Given the description of an element on the screen output the (x, y) to click on. 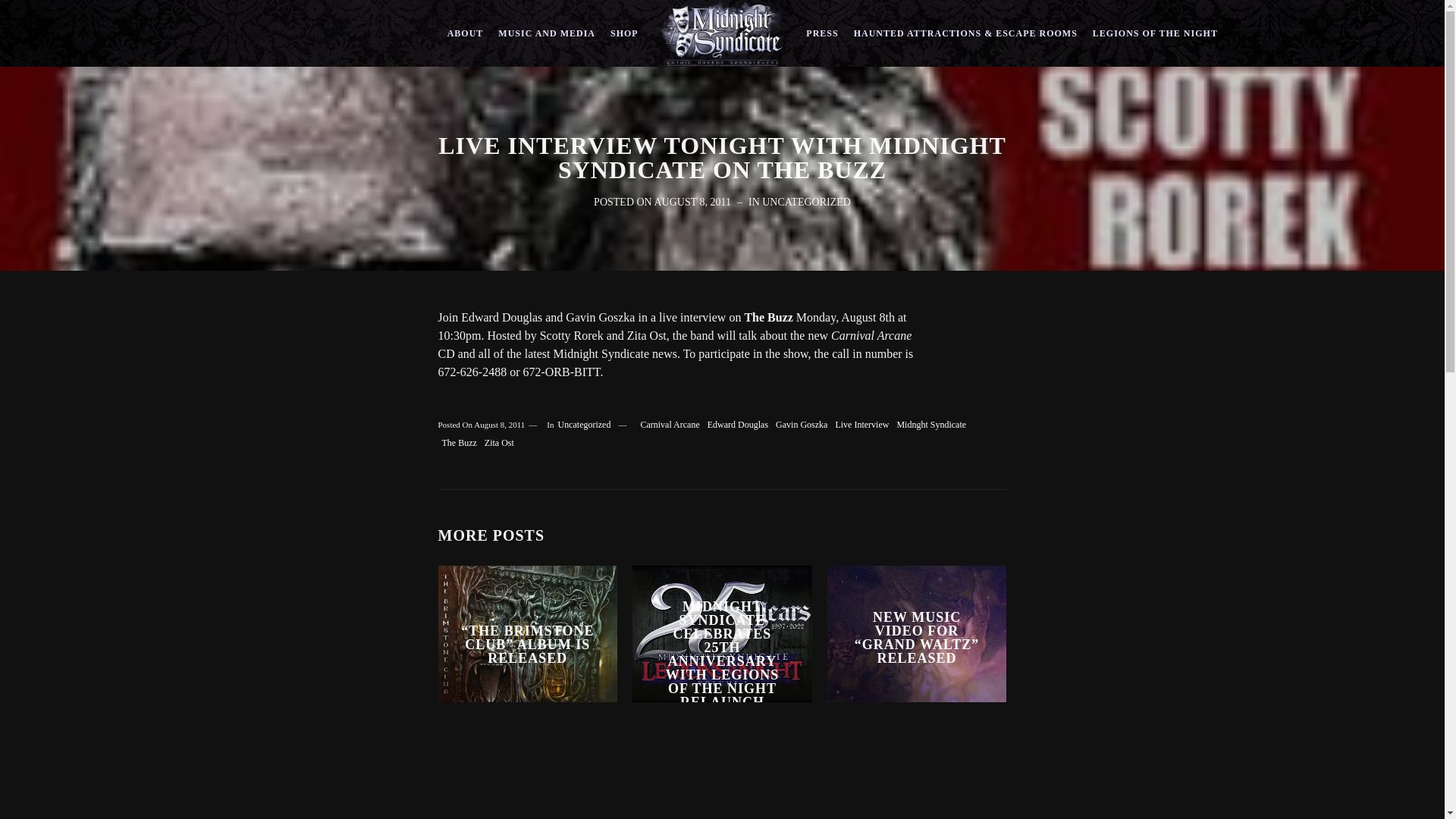
LEGIONS OF THE NIGHT (1154, 33)
MUSIC AND MEDIA (546, 33)
View all posts in the Uncategorized category (805, 202)
ABOUT (465, 33)
PRESS (821, 33)
SHOP (624, 33)
